Given the description of an element on the screen output the (x, y) to click on. 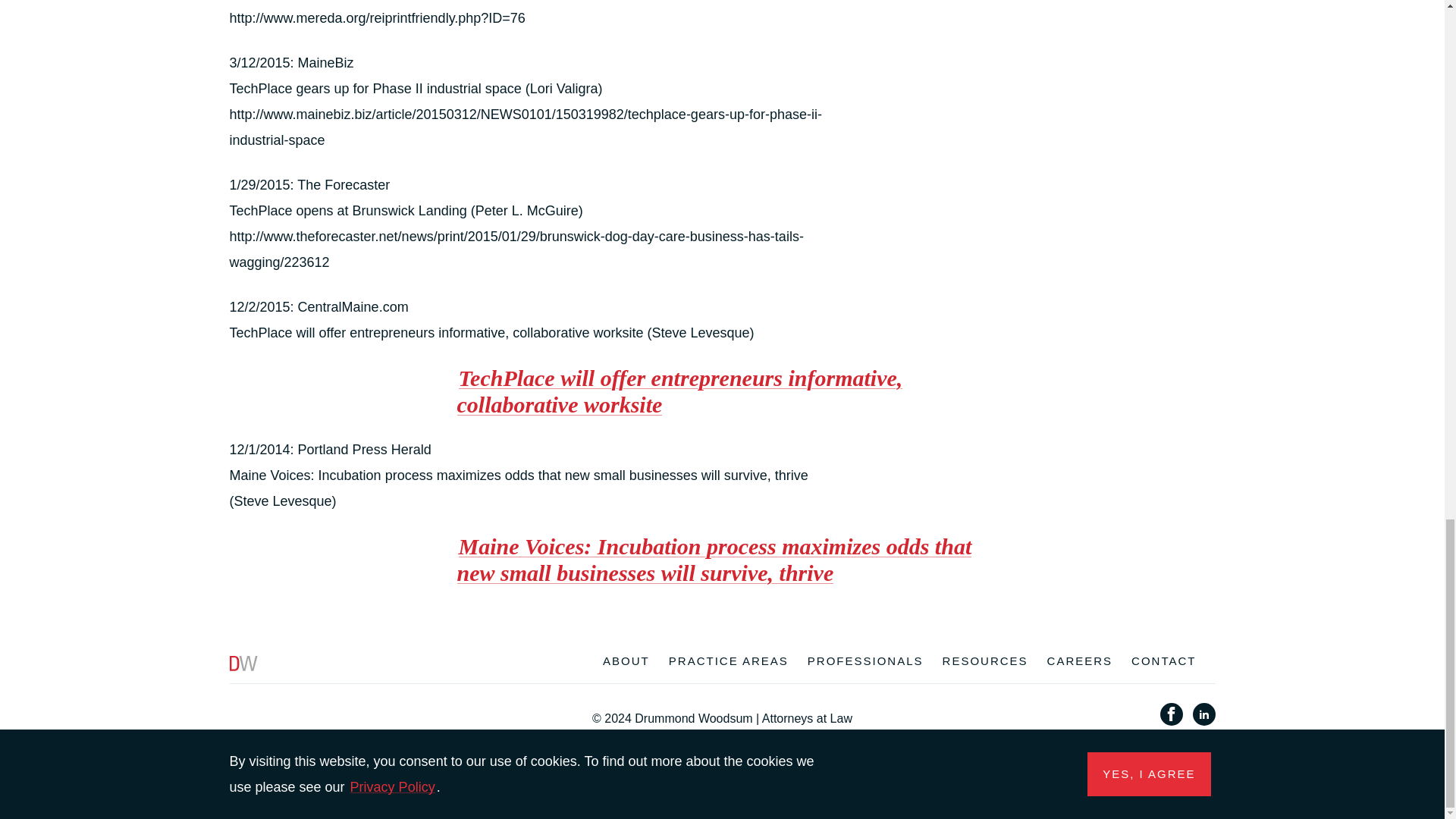
ABOUT (625, 662)
CAREERS (1079, 662)
PROFESSIONALS (865, 662)
CONTACT (1163, 662)
Privacy Statement (628, 734)
PRACTICE AREAS (728, 662)
RESOURCES (984, 662)
